Given the description of an element on the screen output the (x, y) to click on. 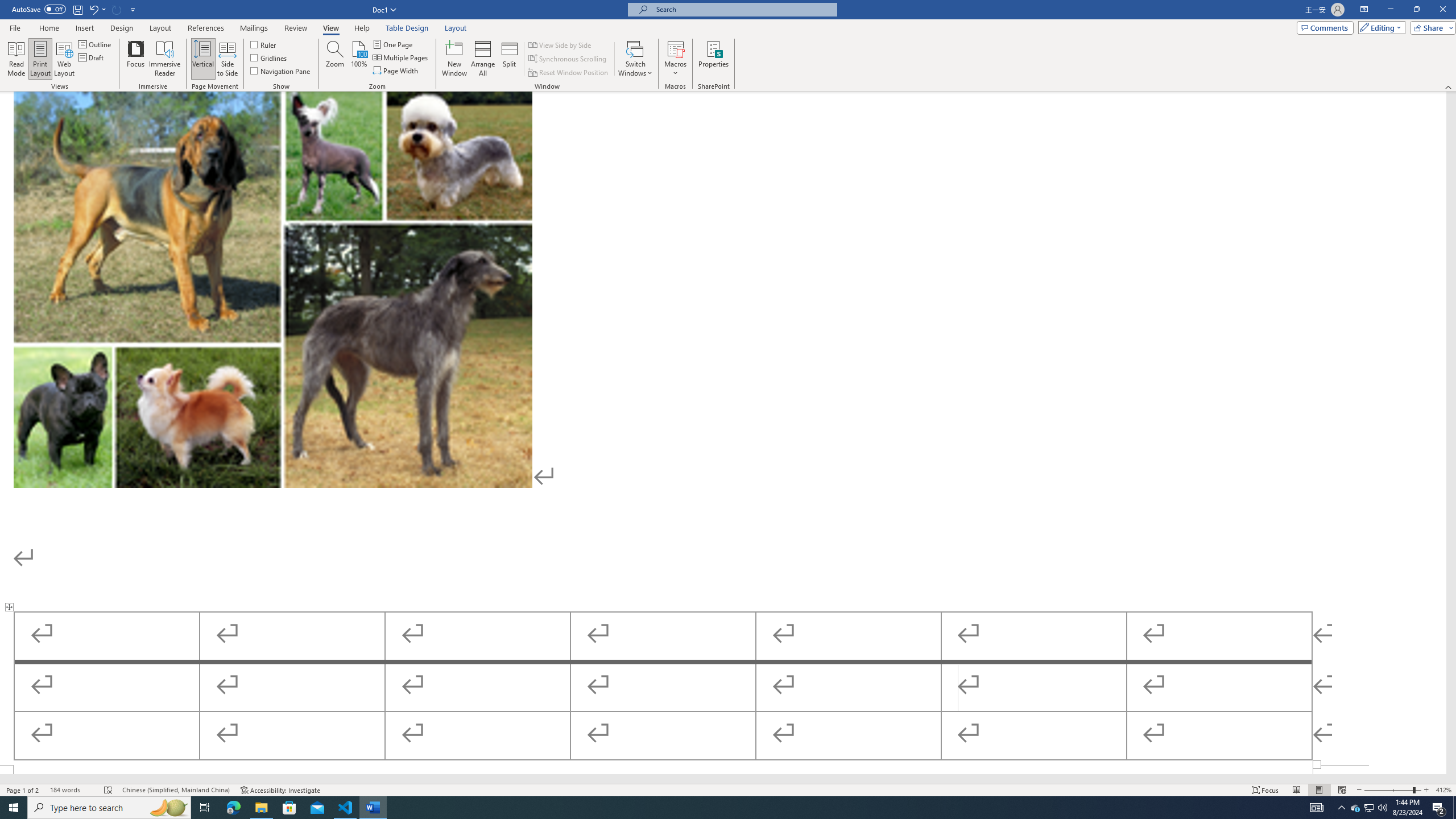
Reset Window Position (569, 72)
Macros (675, 58)
Navigation Pane (281, 69)
Arrange All (483, 58)
Multiple Pages (400, 56)
Page Width (396, 69)
